Given the description of an element on the screen output the (x, y) to click on. 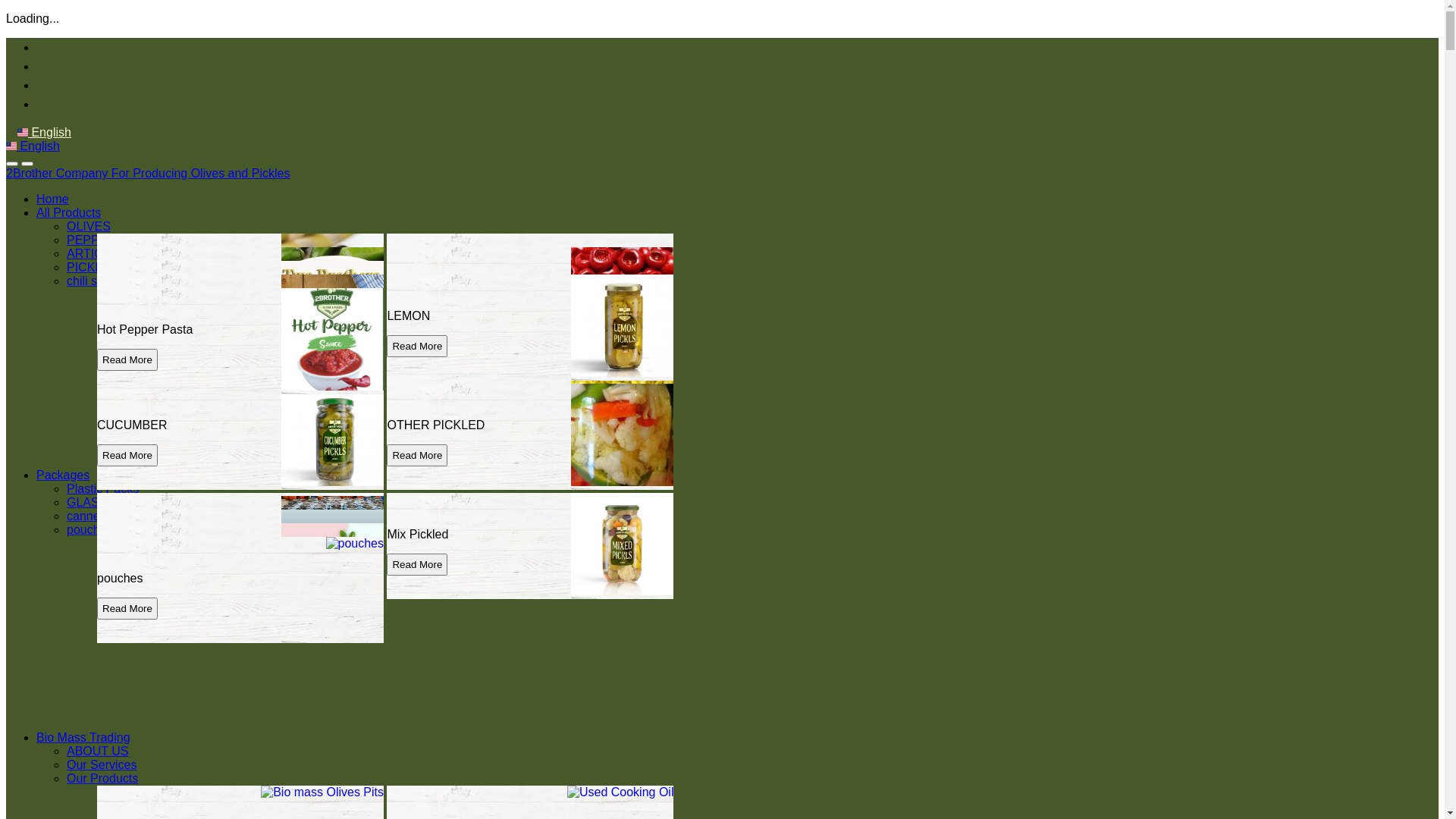
Plastic Packs Element type: text (102, 488)
Natural Black Olives
Read More Element type: text (529, 286)
Read More Element type: text (127, 581)
ARTICHOKE Element type: text (101, 253)
Read More Element type: text (127, 567)
GRAB LEAVS
Read More Element type: text (240, 327)
2Brother Company For Producing Olives and Pickles Element type: text (147, 172)
English Element type: text (44, 132)
English Element type: text (32, 145)
Read More Element type: text (127, 428)
Read More Element type: text (127, 318)
Hot Pepper Pasta
Read More Element type: text (240, 341)
Read More Element type: text (127, 346)
ABOUT US Element type: text (97, 750)
CUCUMBER
Read More Element type: text (240, 436)
plastic packs
Read More Element type: text (240, 548)
Kalamata Olives
Read More Element type: text (240, 395)
JALAPENO PEPPER
Read More Element type: text (240, 300)
GLASS JARS
Read More Element type: text (240, 562)
pouches packs Element type: text (106, 529)
Read More Element type: text (127, 305)
Our Products Element type: text (102, 777)
Read More Element type: text (416, 346)
Artichokes
Read More Element type: text (240, 313)
Metallic canned
Read More Element type: text (240, 576)
PEPPER Element type: text (91, 239)
Read More Element type: text (416, 428)
GARLIC
Read More Element type: text (240, 545)
OLIVES Element type: text (88, 225)
Bio Mass Trading Element type: text (83, 737)
Mix Pickled
Read More Element type: text (529, 545)
OTHER PEPPER
Read More Element type: text (240, 409)
Home Element type: text (52, 198)
Read More Element type: text (416, 305)
All Products Element type: text (68, 212)
Read More Element type: text (127, 564)
Black Olives
Read More Element type: text (240, 286)
Read More Element type: text (416, 564)
LEMON
Read More Element type: text (529, 327)
OTHER PICKLED
Read More Element type: text (529, 436)
canned packs Element type: text (103, 515)
Read More Element type: text (127, 332)
Read More Element type: text (127, 359)
CHERRY PEPPER
Read More Element type: text (529, 300)
green olives
Read More Element type: text (529, 395)
pouches
Read More Element type: text (240, 589)
PICKLES Element type: text (92, 266)
Read More Element type: text (127, 594)
Read More Element type: text (416, 414)
Read More Element type: text (127, 608)
Lombardi Pepper
Read More Element type: text (529, 409)
Read More Element type: text (416, 318)
Read More Element type: text (416, 455)
Read More Element type: text (127, 414)
Our Services Element type: text (101, 764)
GLASS JARS Element type: text (103, 501)
Packages Element type: text (62, 474)
chili sauce &Pasta Element type: text (116, 280)
Read More Element type: text (127, 455)
